Given the description of an element on the screen output the (x, y) to click on. 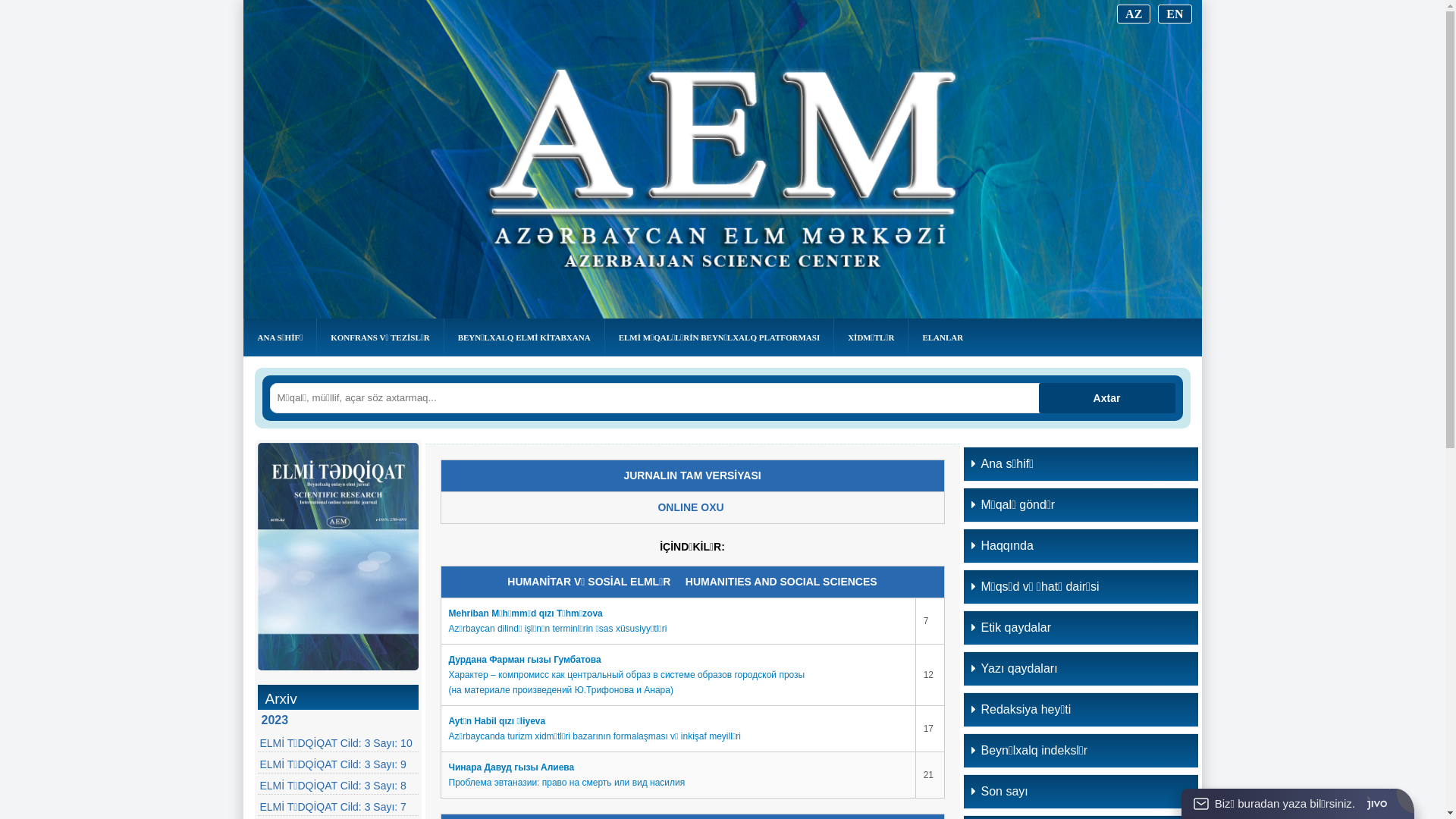
Axtar Element type: text (1106, 397)
ELANLAR Element type: text (942, 337)
Etik qaydalar Element type: text (1080, 627)
AZ Element type: text (1133, 13)
EN Element type: text (1174, 13)
ONLINE OXU Element type: text (690, 507)
